Given the description of an element on the screen output the (x, y) to click on. 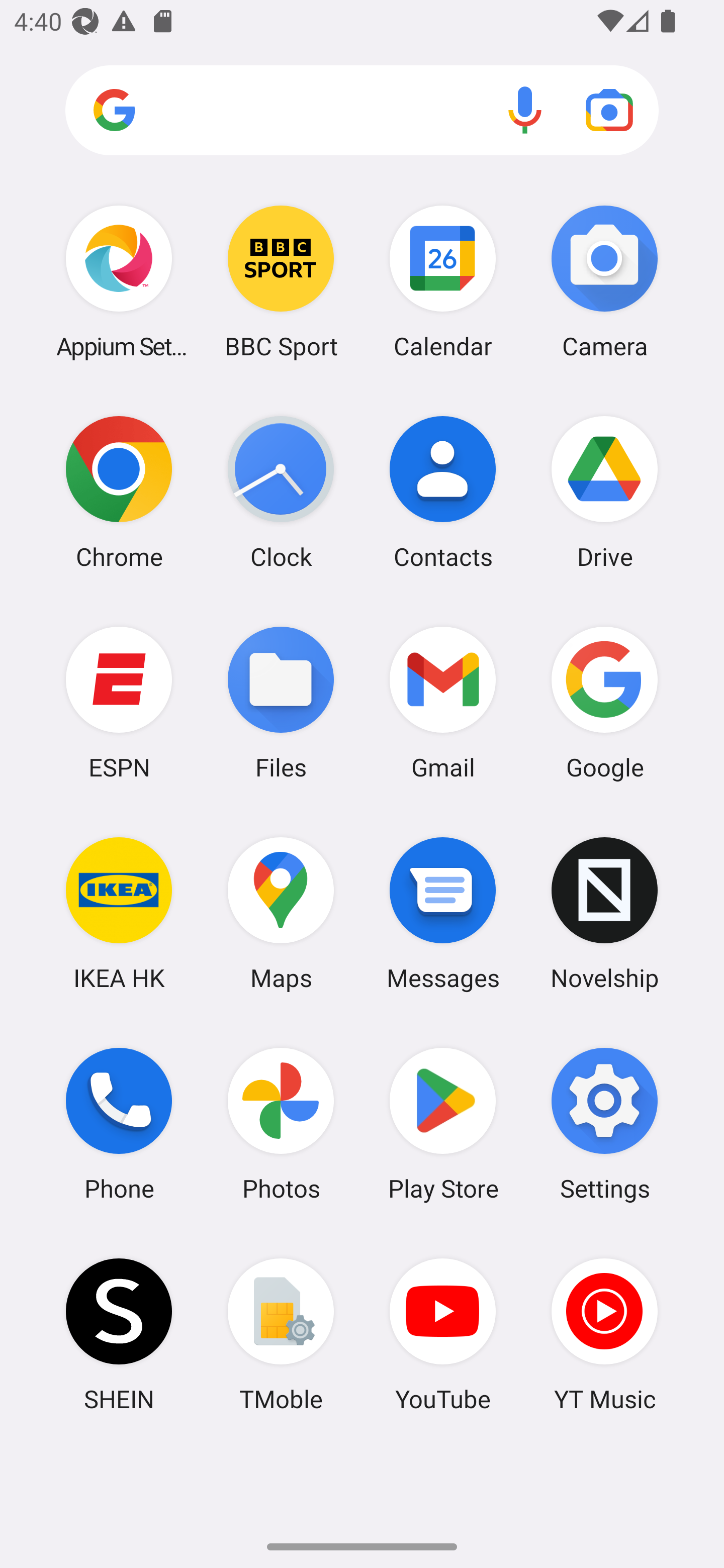
Search apps, web and more (361, 110)
Voice search (524, 109)
Google Lens (608, 109)
Appium Settings (118, 281)
BBC Sport (280, 281)
Calendar (443, 281)
Camera (604, 281)
Chrome (118, 492)
Clock (280, 492)
Contacts (443, 492)
Drive (604, 492)
ESPN (118, 702)
Files (280, 702)
Gmail (443, 702)
Google (604, 702)
IKEA HK (118, 913)
Maps (280, 913)
Messages (443, 913)
Novelship (604, 913)
Phone (118, 1124)
Photos (280, 1124)
Play Store (443, 1124)
Settings (604, 1124)
SHEIN (118, 1334)
TMoble (280, 1334)
YouTube (443, 1334)
YT Music (604, 1334)
